Given the description of an element on the screen output the (x, y) to click on. 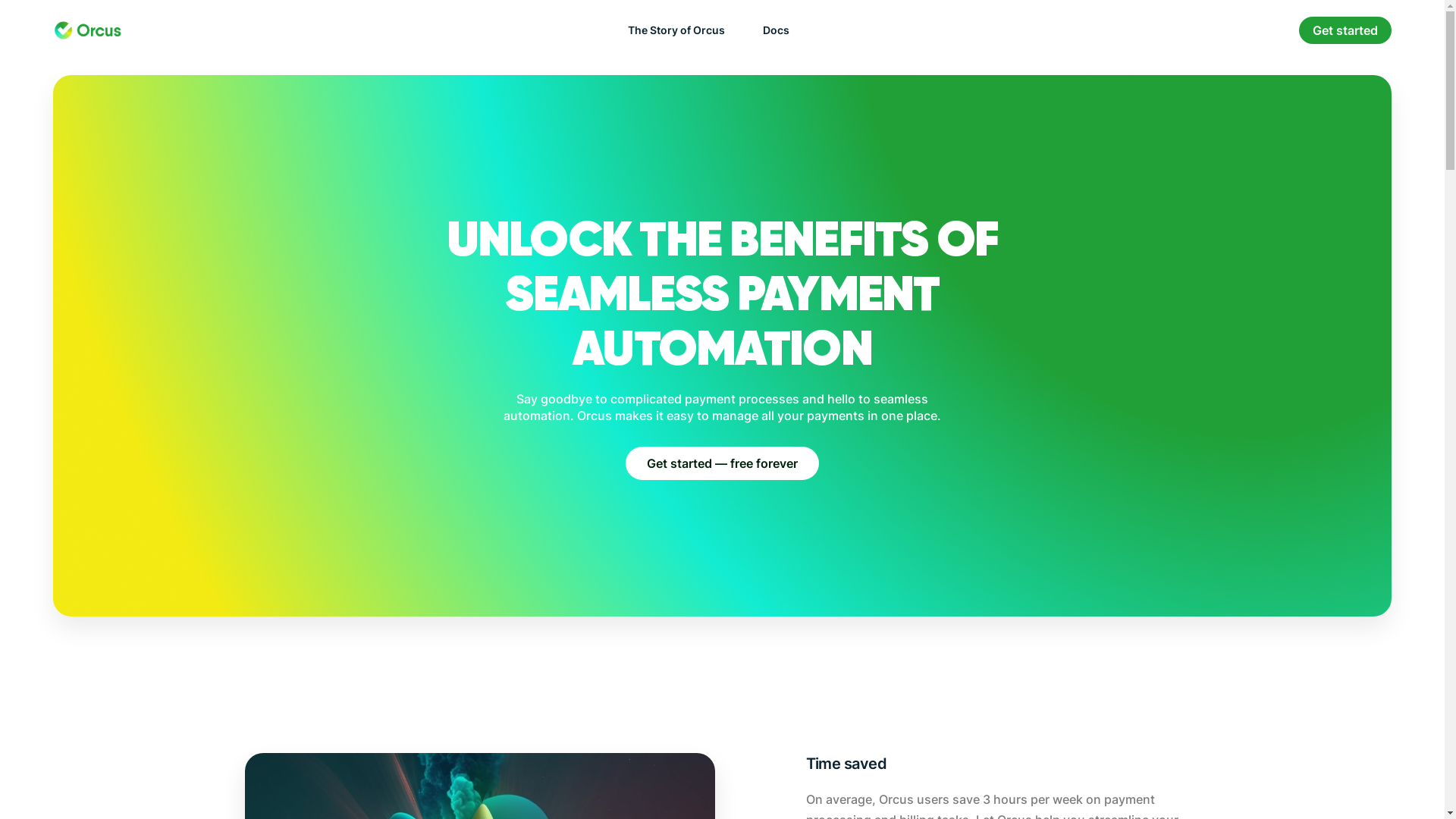
The Story of Orcus Element type: text (675, 29)
Get started Element type: text (1345, 29)
Docs Element type: text (775, 29)
